Given the description of an element on the screen output the (x, y) to click on. 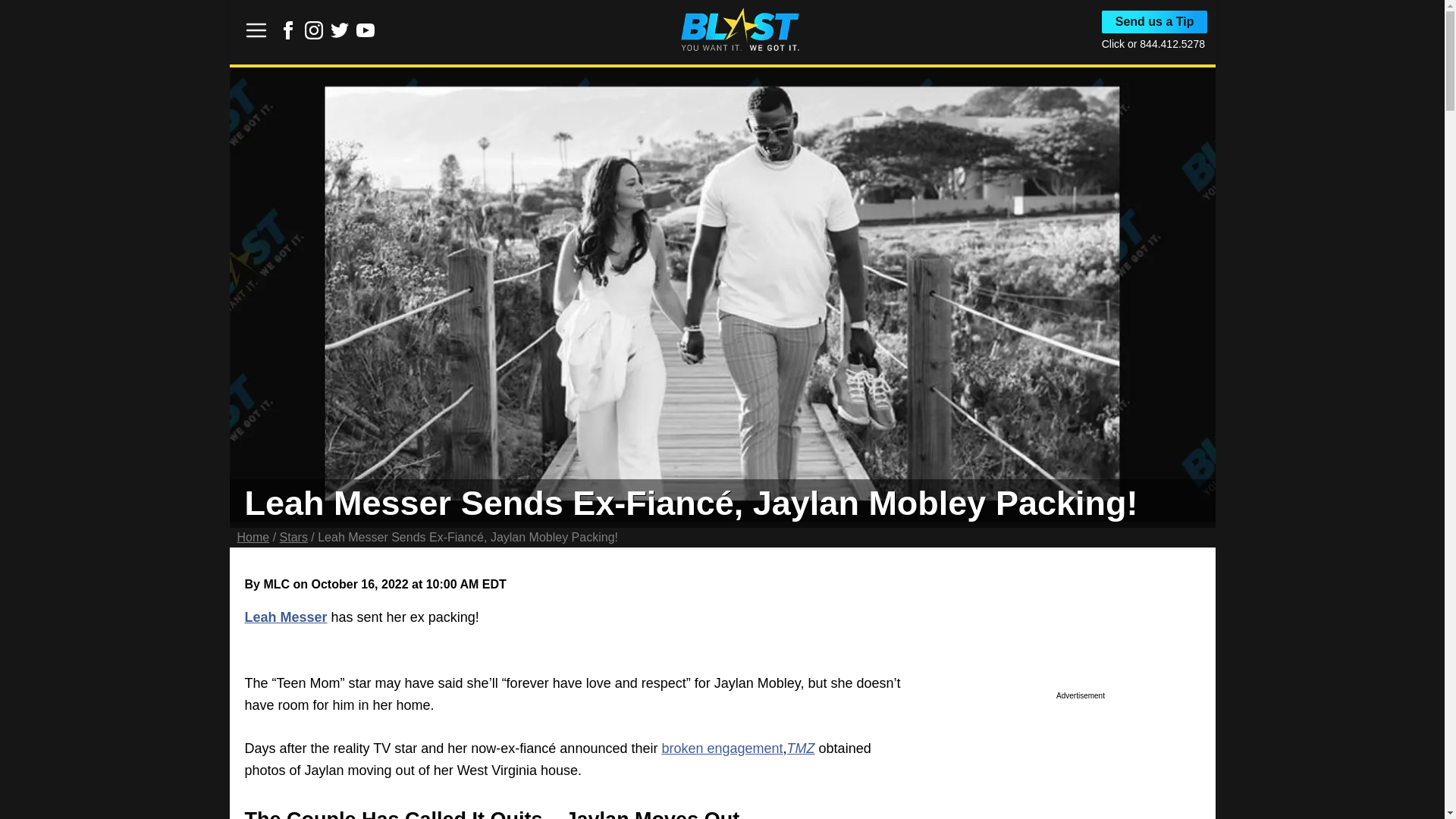
Send us a Tip (1155, 21)
Link to Youtube (365, 30)
Click or 844.412.5278 (1153, 43)
Link to Facebook (288, 30)
Link to Twitter (339, 34)
Home (252, 536)
TMZ (801, 748)
MLC (276, 584)
broken engagement (722, 748)
Link to Facebook (288, 34)
